Given the description of an element on the screen output the (x, y) to click on. 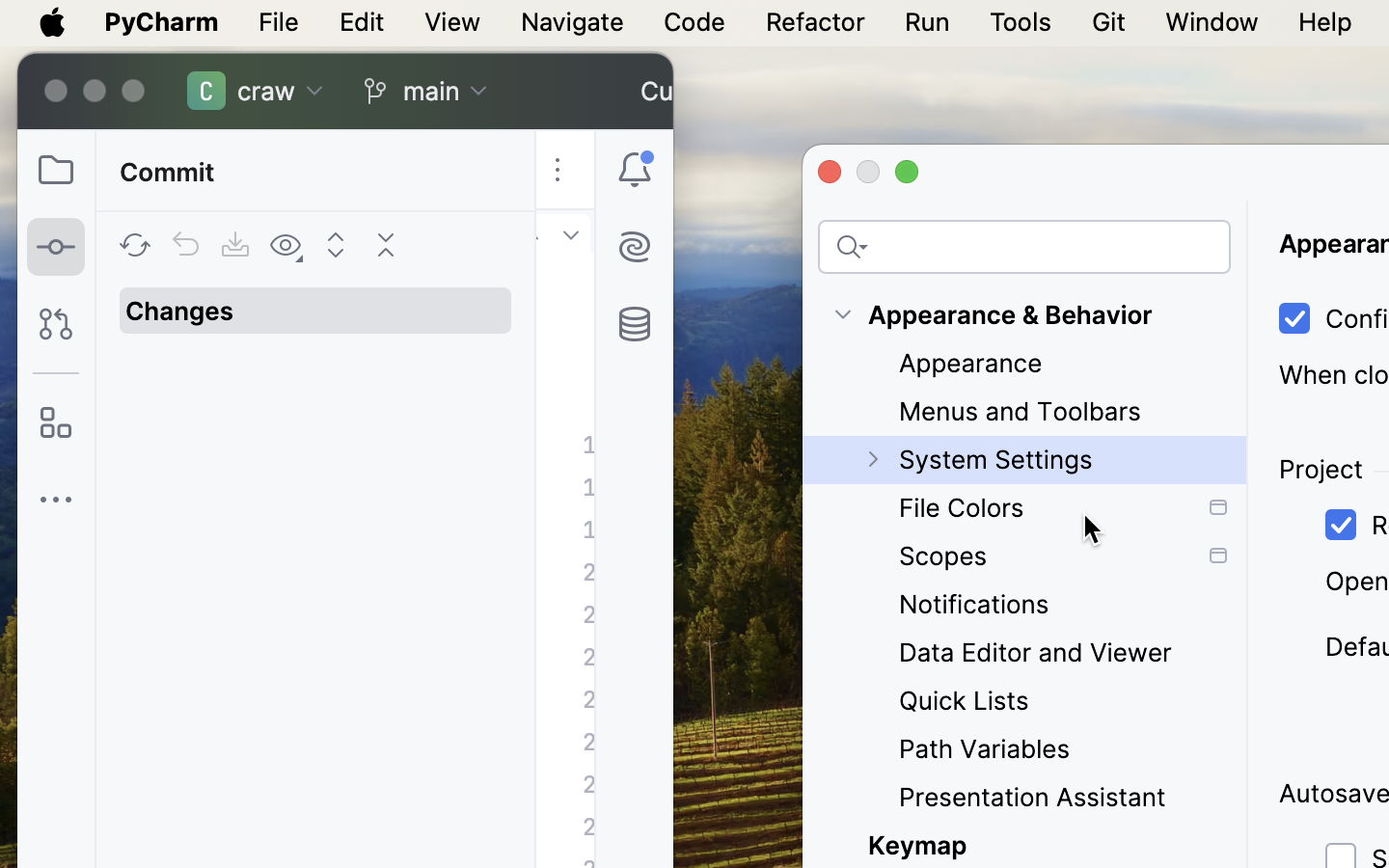
Project Element type: AXStaticText (1320, 469)
